Given the description of an element on the screen output the (x, y) to click on. 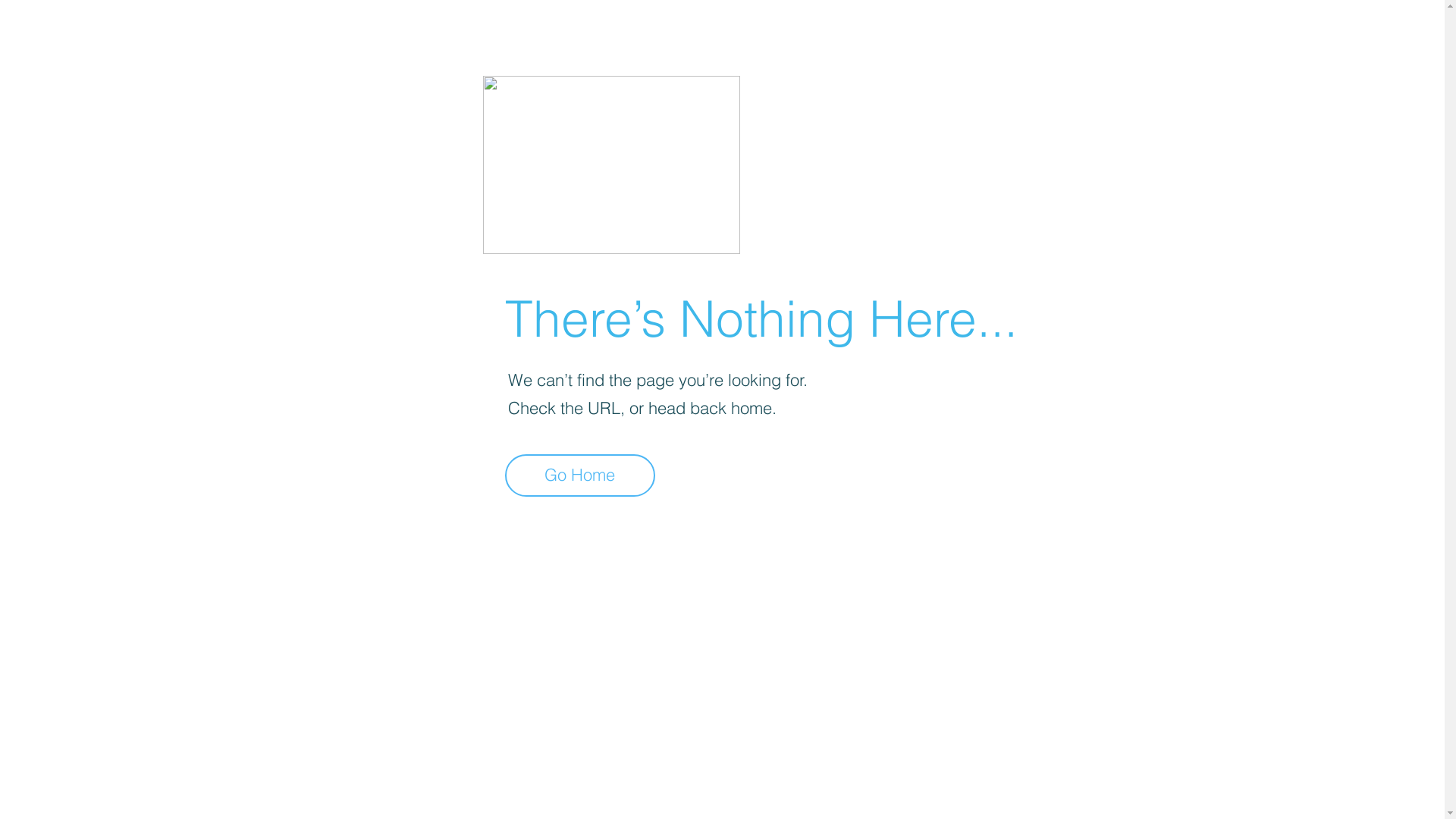
404-icon_2.png Element type: hover (610, 164)
Go Home Element type: text (580, 475)
